Given the description of an element on the screen output the (x, y) to click on. 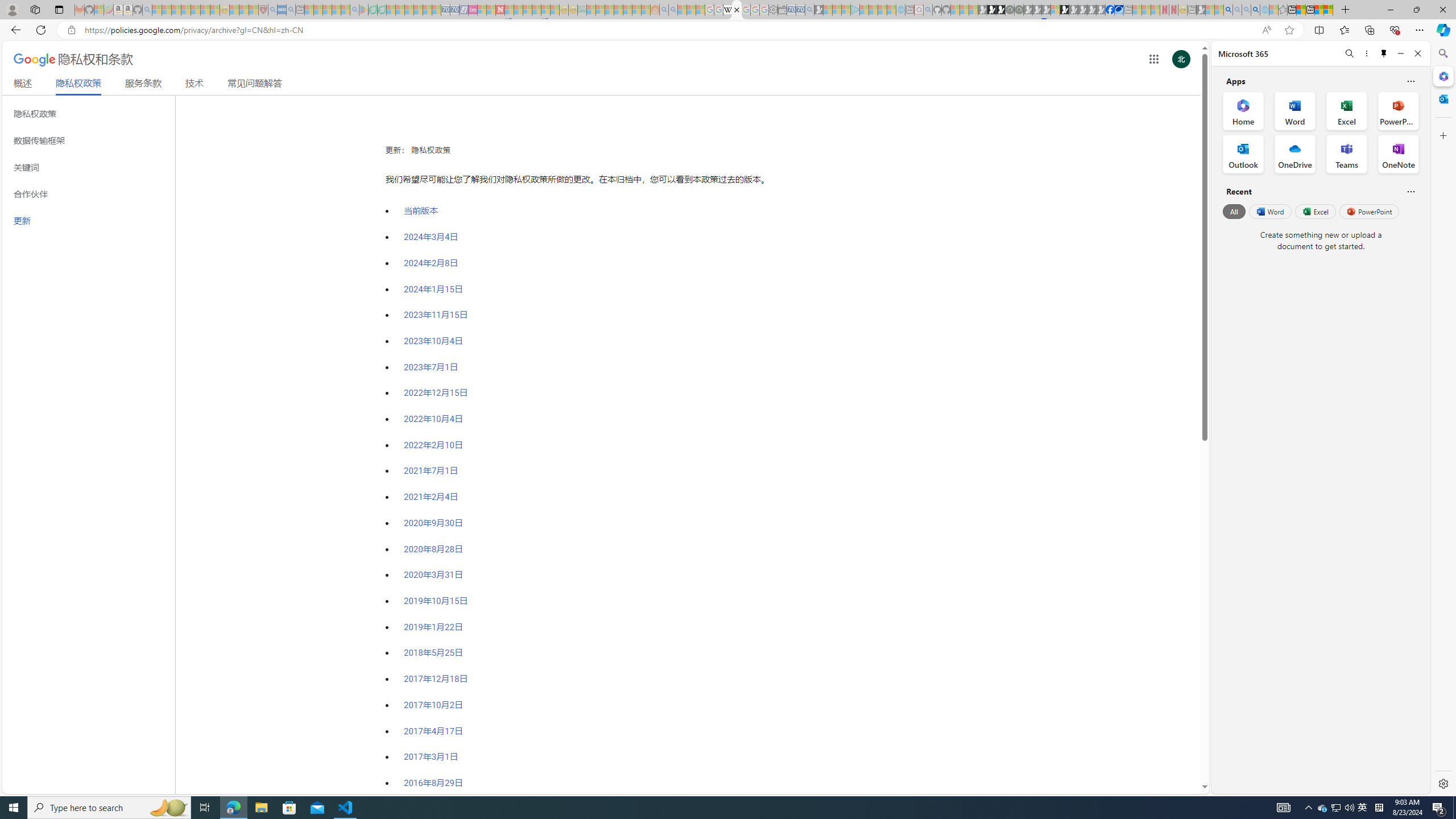
The Weather Channel - MSN - Sleeping (175, 9)
Cheap Car Rentals - Save70.com - Sleeping (799, 9)
Microsoft account | Privacy (1328, 9)
utah sues federal government - Search - Sleeping (290, 9)
